Given the description of an element on the screen output the (x, y) to click on. 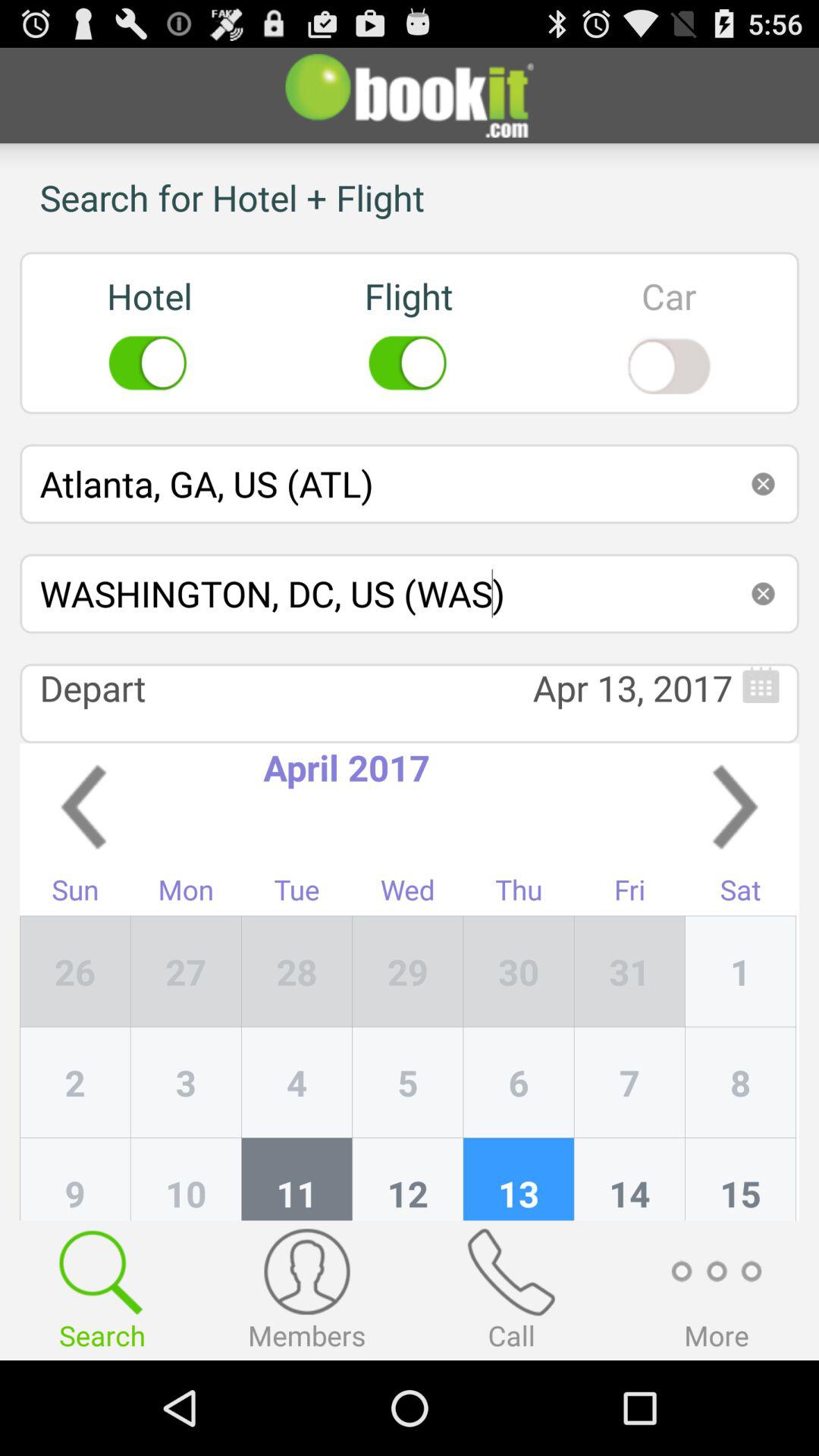
tap the item above the 30 icon (629, 893)
